Given the description of an element on the screen output the (x, y) to click on. 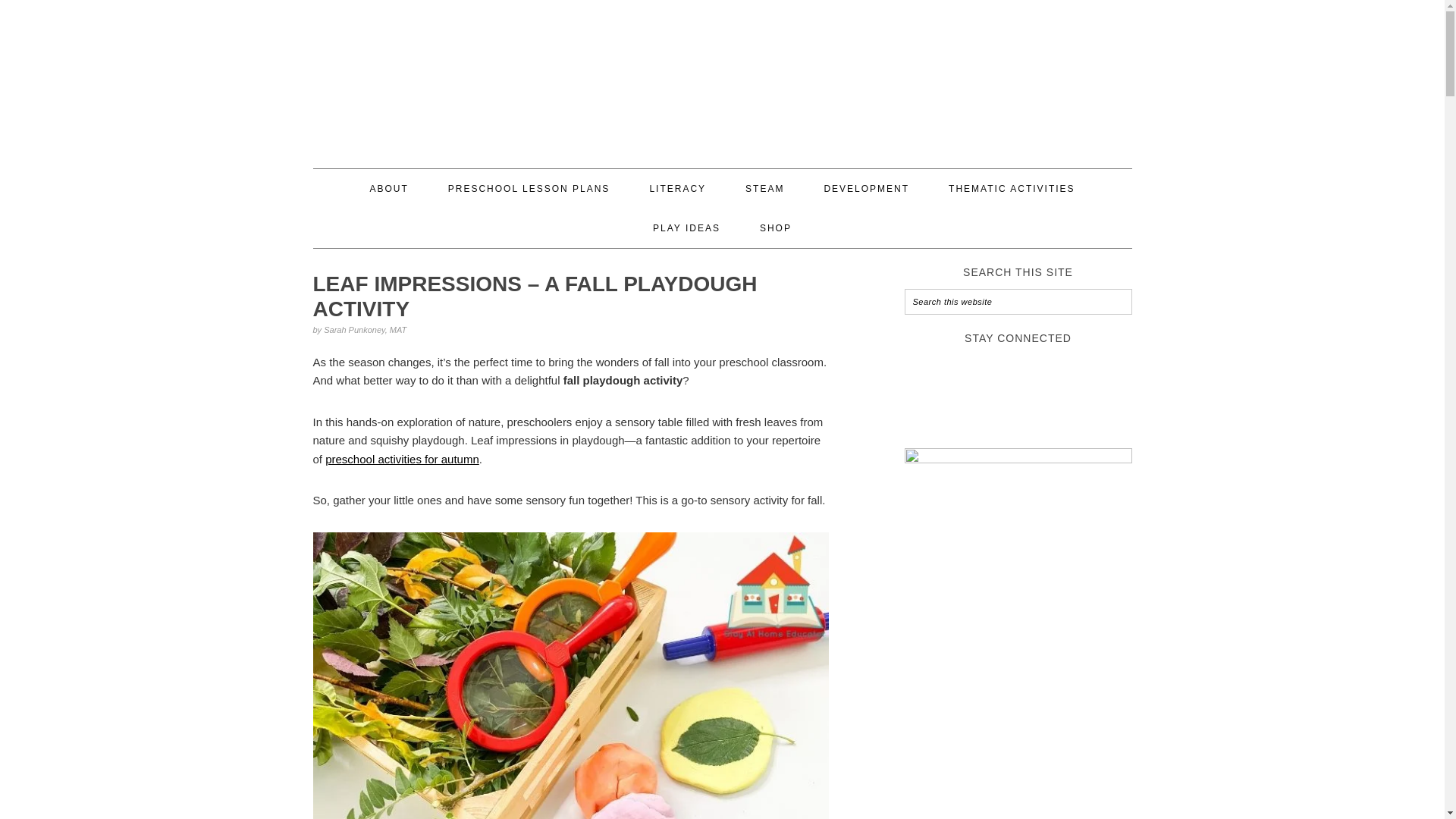
THEMATIC ACTIVITIES (1011, 188)
SHOP (775, 228)
STEAM (764, 188)
ABOUT (388, 188)
Sarah Punkoney, MAT (364, 329)
LITERACY (677, 188)
preschool activities for autumn (401, 459)
PLAY IDEAS (686, 228)
PRESCHOOL LESSON PLANS (528, 188)
DEVELOPMENT (866, 188)
STAY AT HOME EDUCATOR (722, 77)
